Given the description of an element on the screen output the (x, y) to click on. 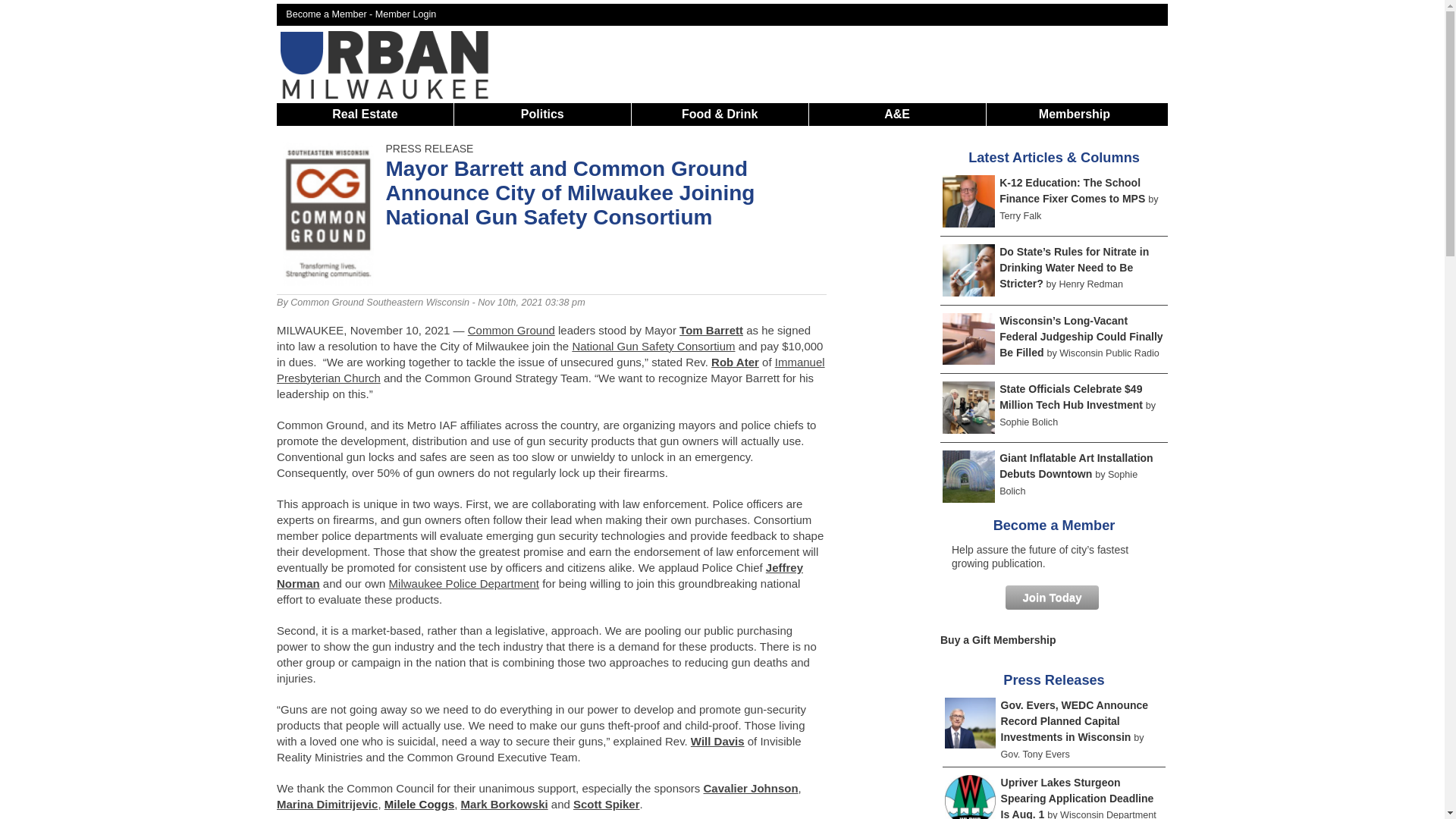
Mark Borkowski (504, 803)
Common Ground Southeastern Wisconsin (378, 302)
Real Estate (364, 113)
Immanuel Presbyterian Church (550, 369)
Will Davis (717, 740)
Rob Ater (734, 361)
Milwaukee Police Department (463, 583)
Become a Member - (330, 14)
Cavalier Johnson (750, 788)
Posts by Common Ground Southeastern Wisconsin (378, 302)
Jeffrey Norman (539, 575)
Tom Barrett (710, 329)
Common Ground (510, 329)
Milele Coggs (419, 803)
Politics (542, 113)
